Given the description of an element on the screen output the (x, y) to click on. 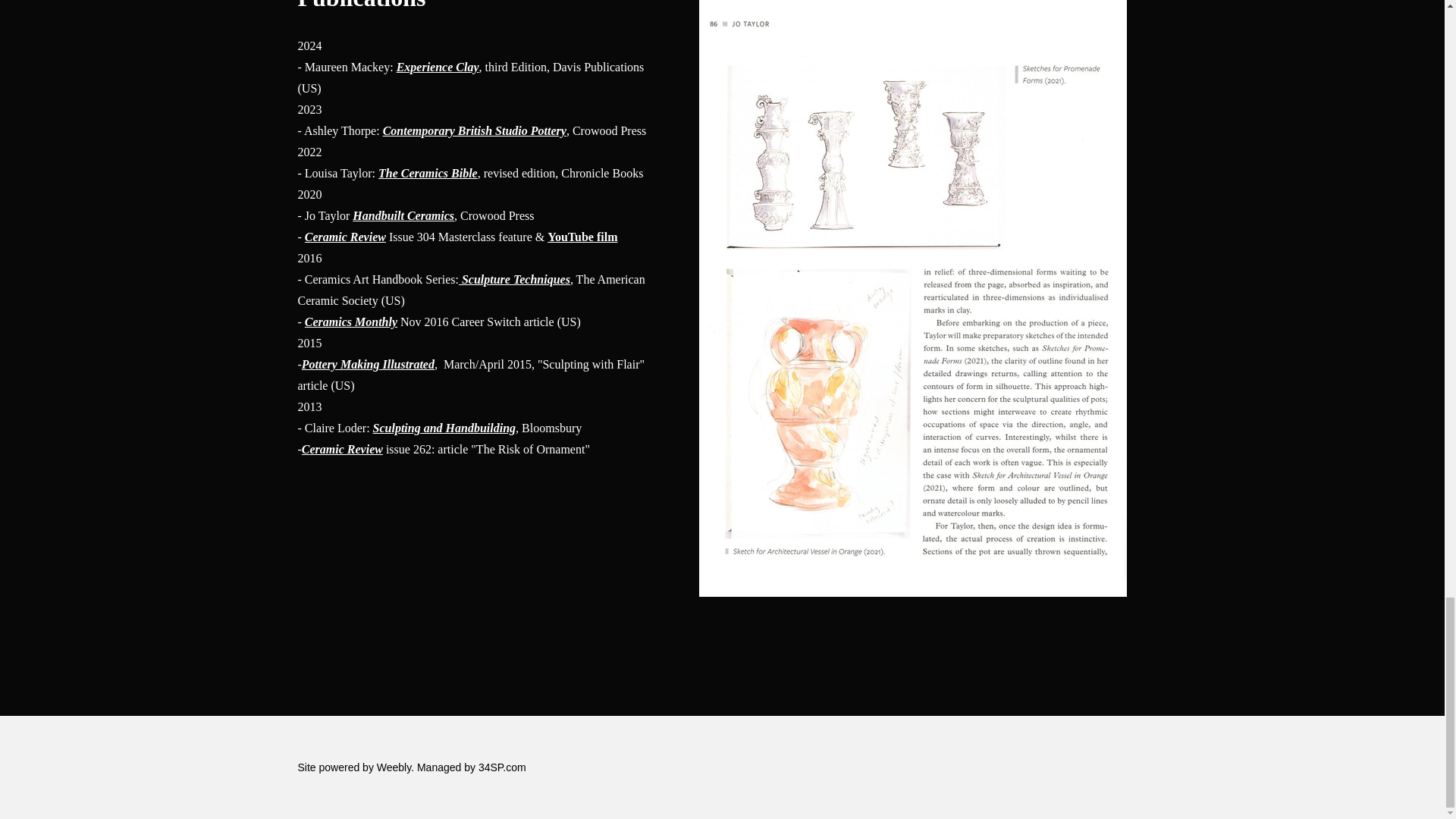
Ceramic Review (344, 236)
Contemporary British Studio Pottery (474, 130)
Sculpting and Handbuilding (444, 427)
34SP.com (502, 767)
YouTube film (582, 236)
Experience Clay (437, 66)
The Ceramics Bible (427, 173)
Handbuilt Ceramics (403, 215)
Sculpture Techniques (514, 278)
Ceramic Review (341, 449)
